Given the description of an element on the screen output the (x, y) to click on. 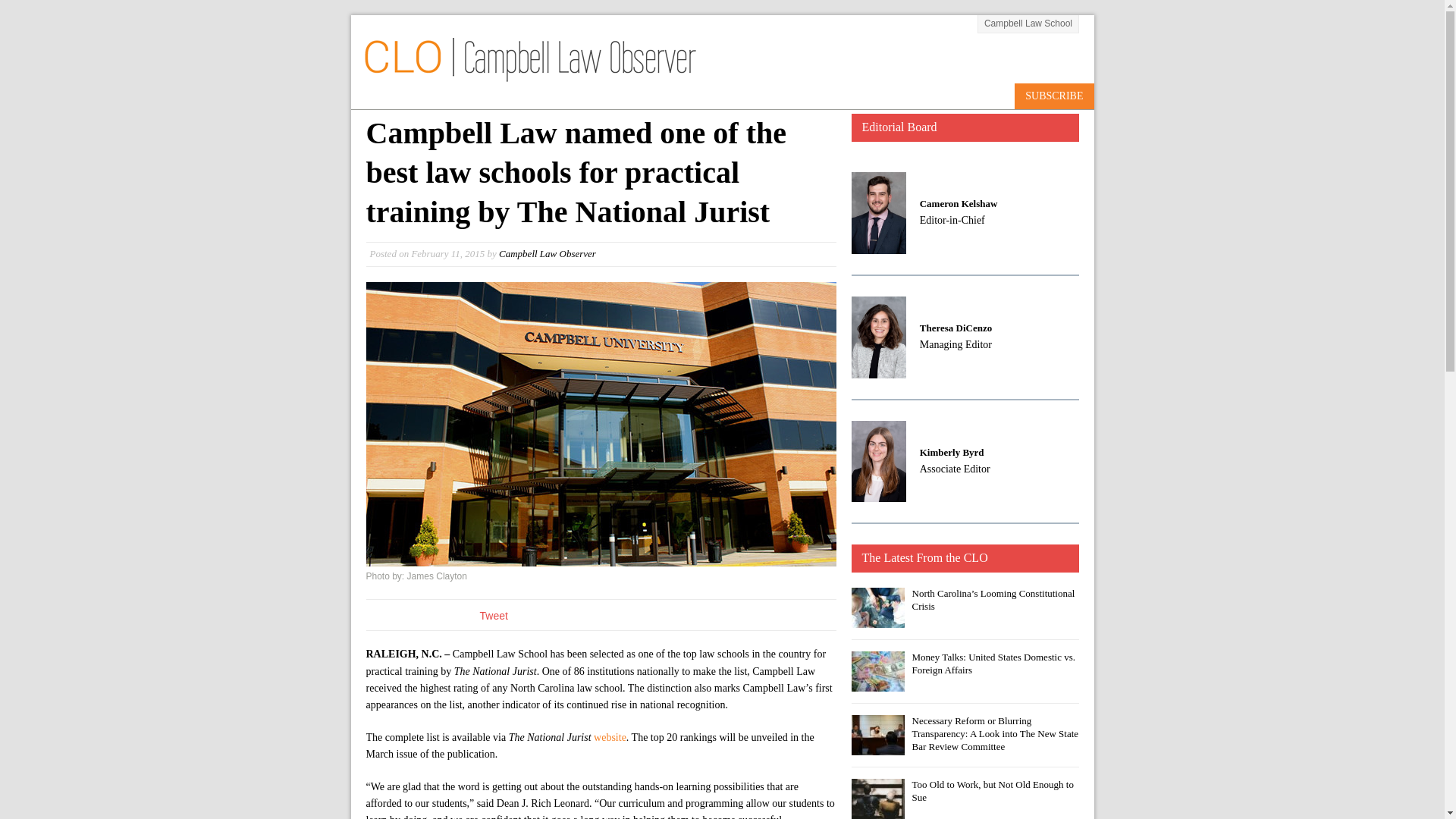
Campbell Law Observer (528, 74)
HOME (580, 95)
Campbell Law School (600, 423)
Too Old to Work, but Not Old Enough to Sue (877, 809)
Campbell Law Observer (547, 253)
Too Old to Work, but Not Old Enough to Sue (992, 790)
ABOUT THE CLO (659, 95)
Money Talks: United States Domestic vs. Foreign Affairs (993, 663)
Money Talks: United States Domestic vs. Foreign Affairs (877, 682)
Posts by Campbell Law Observer (547, 253)
Cameron Kelshaw (958, 203)
SUBSCRIBE (1053, 95)
website (610, 737)
FEATURED ARTICLES (774, 95)
